Given the description of an element on the screen output the (x, y) to click on. 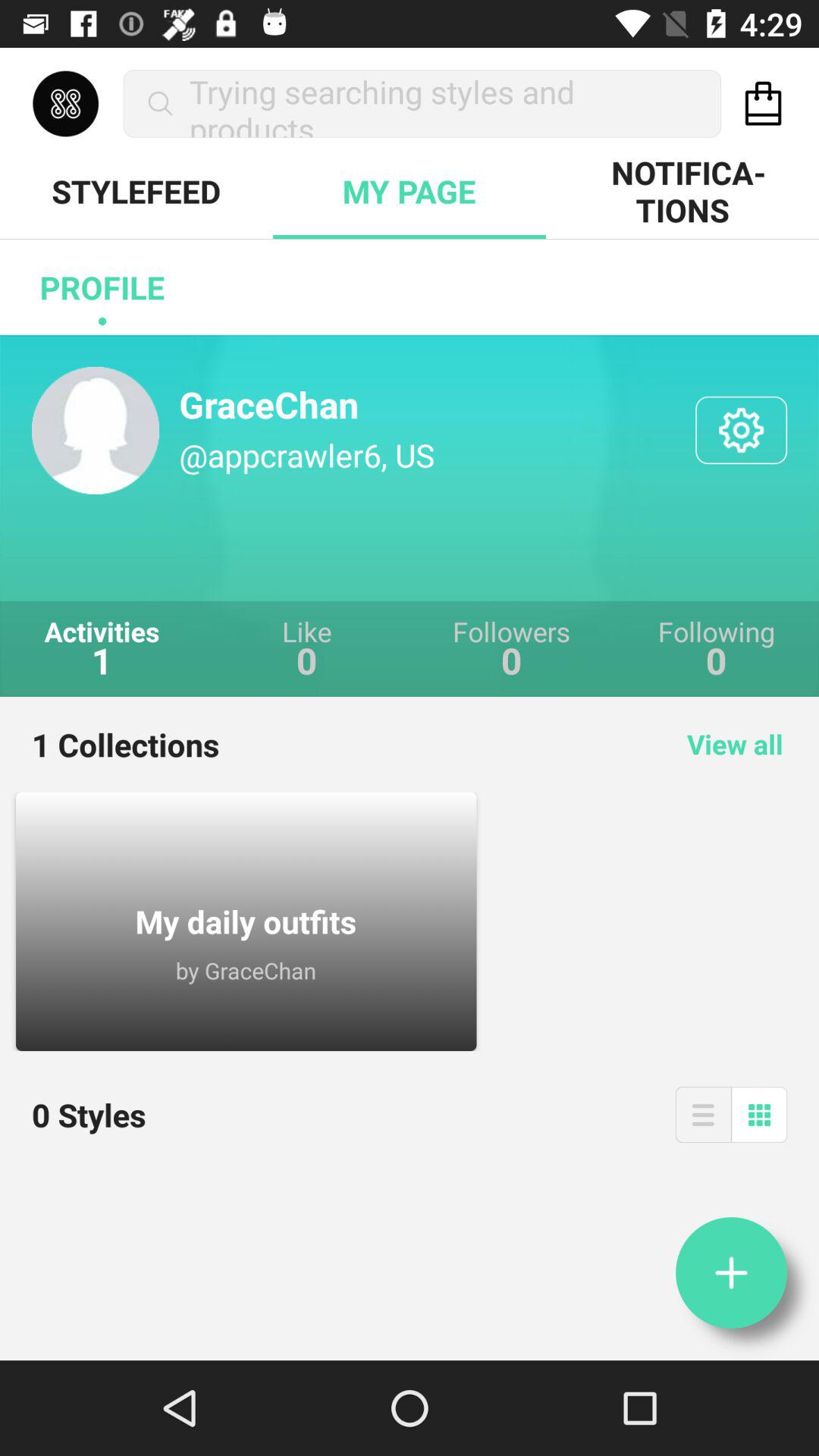
shopping cart (763, 103)
